Given the description of an element on the screen output the (x, y) to click on. 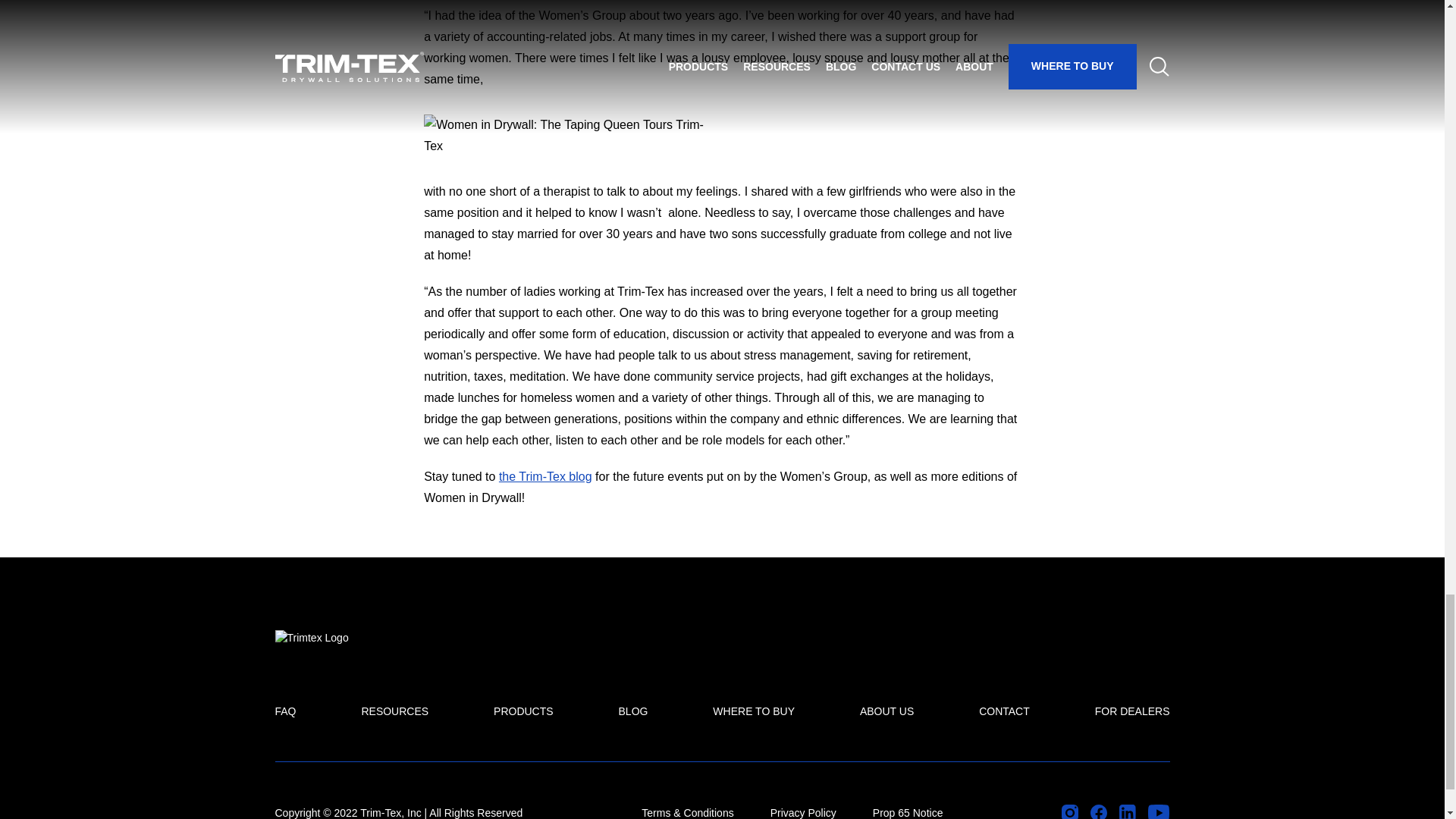
FAQ (285, 711)
Visit (1127, 811)
Visit (1158, 811)
BLOG (632, 711)
Visit (1069, 811)
PRODUCTS (523, 711)
ABOUT US (887, 711)
the Trim-Tex blog (545, 476)
RESOURCES (394, 711)
Visit (1098, 811)
WHERE TO BUY (753, 711)
